Given the description of an element on the screen output the (x, y) to click on. 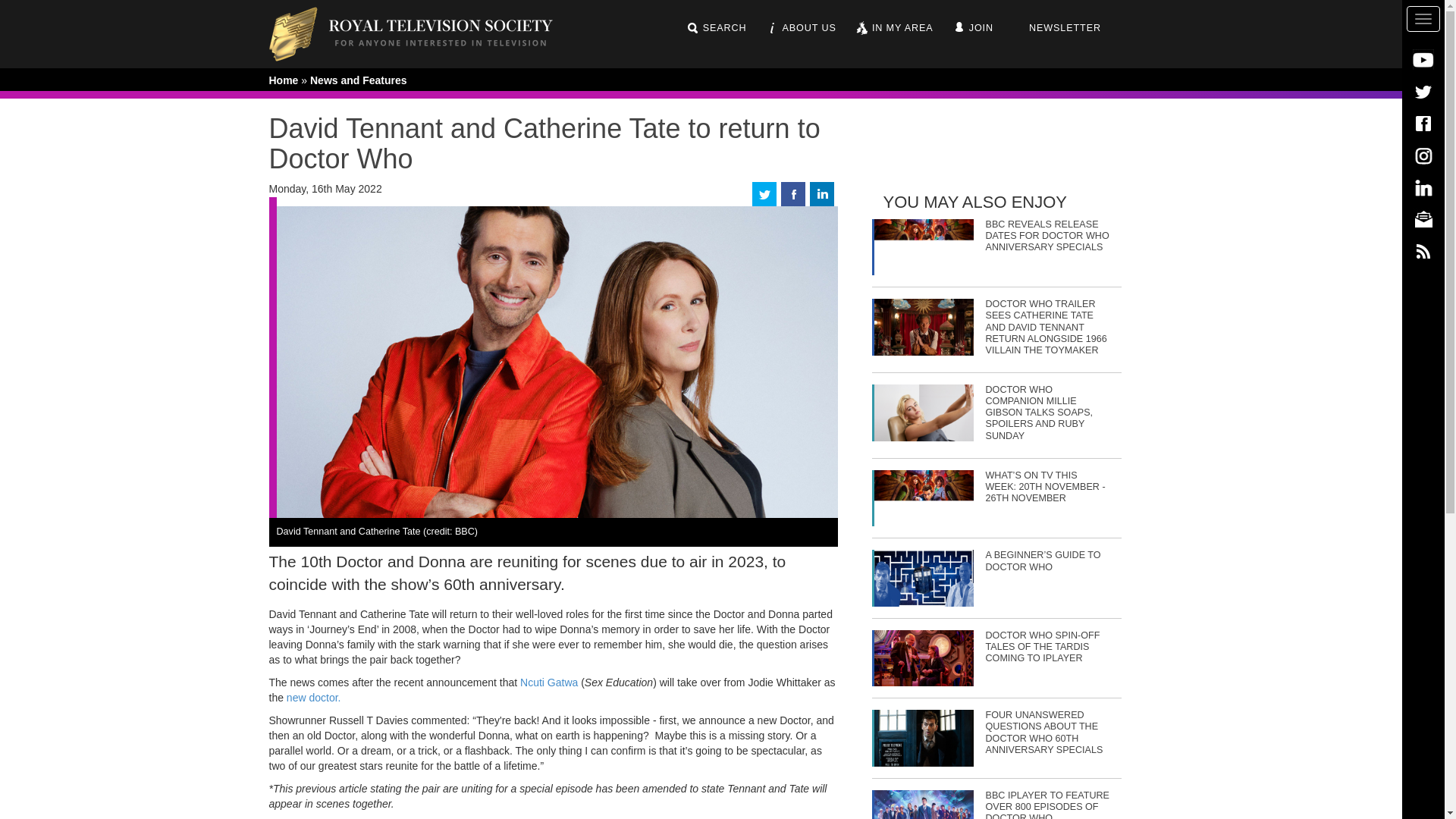
Facebook (1423, 123)
Instagram (1423, 154)
YouTube (1423, 59)
Contact Us (1423, 218)
Toggle navigation (1422, 18)
SEARCH (715, 28)
NEWSLETTER (1055, 28)
RSS (1423, 250)
ABOUT US (800, 28)
Twitter (1423, 91)
